Given the description of an element on the screen output the (x, y) to click on. 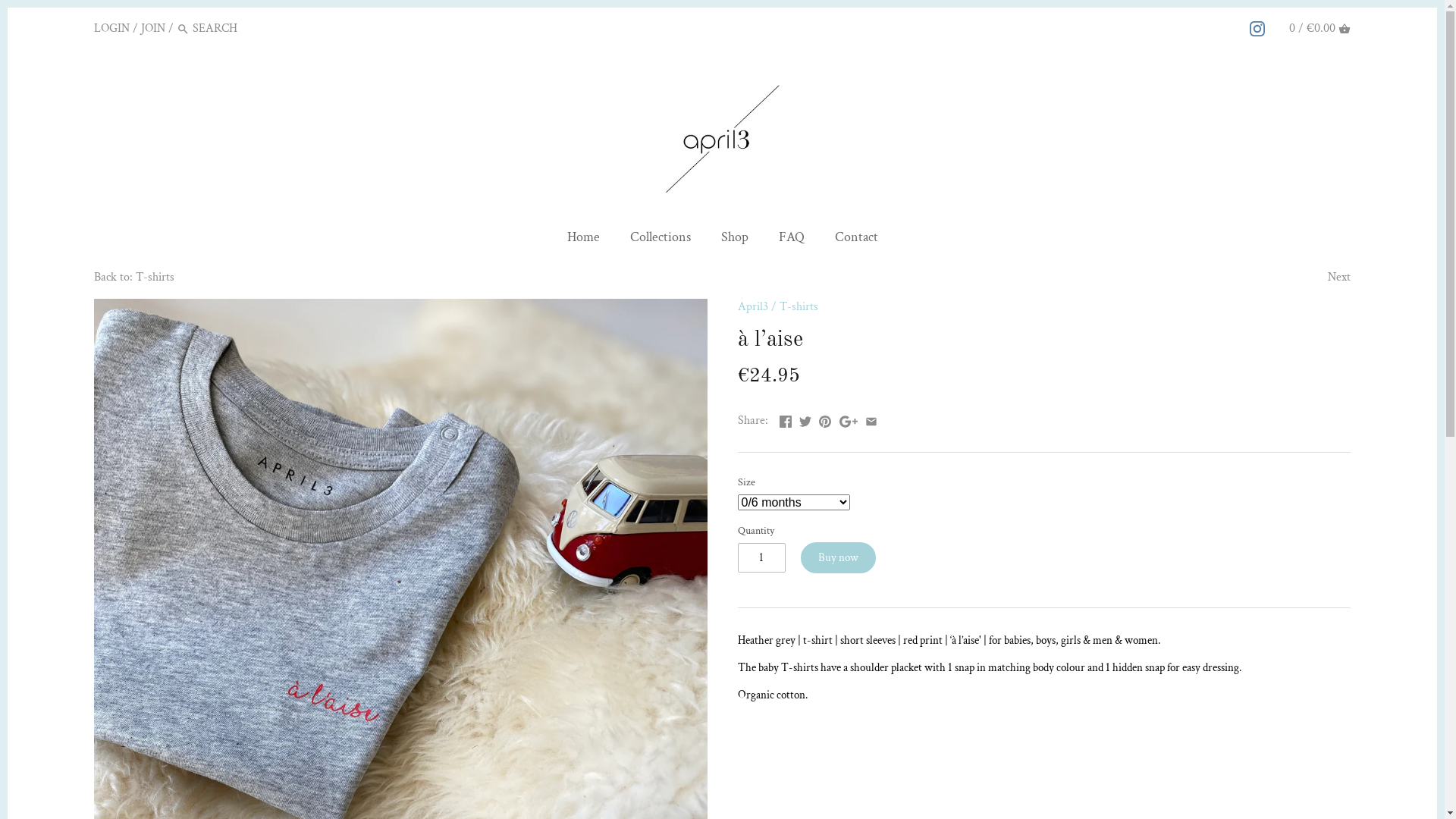
April3 Element type: text (752, 306)
GooglePlus Element type: text (848, 418)
Pinterest Element type: text (825, 418)
Search Element type: text (182, 29)
INSTAGRAM Element type: text (1256, 27)
Facebook Element type: text (785, 418)
FAQ Element type: text (790, 239)
Buy now Element type: text (838, 557)
Next Element type: text (1338, 277)
Back to: T-shirts Element type: text (134, 277)
T-shirts Element type: text (798, 306)
Contact Element type: text (855, 239)
Collections Element type: text (659, 239)
LOGIN Element type: text (111, 28)
Shop Element type: text (733, 239)
JOIN Element type: text (153, 28)
Email Element type: text (871, 418)
Twitter Element type: text (805, 418)
Home Element type: text (583, 239)
